Given the description of an element on the screen output the (x, y) to click on. 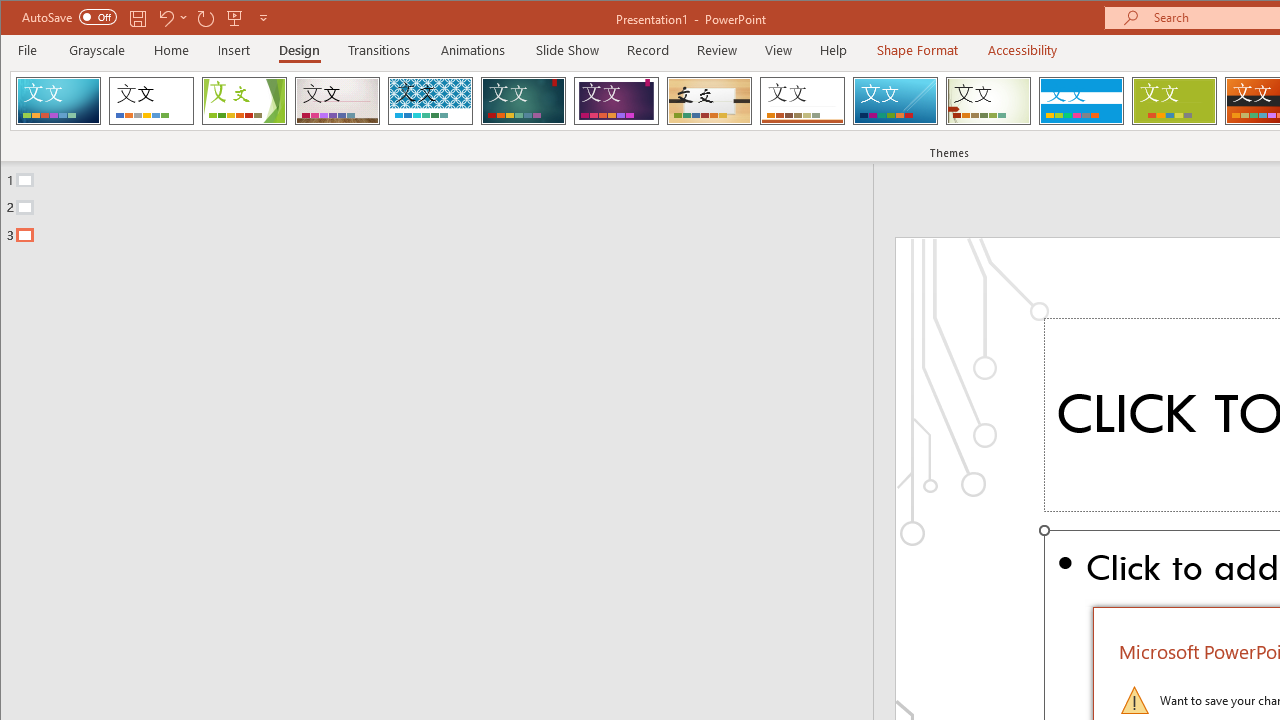
Shape Format (916, 50)
Grayscale (97, 50)
Outline (445, 203)
Basis (1174, 100)
Ion (523, 100)
Gallery (337, 100)
Wisp (988, 100)
